Given the description of an element on the screen output the (x, y) to click on. 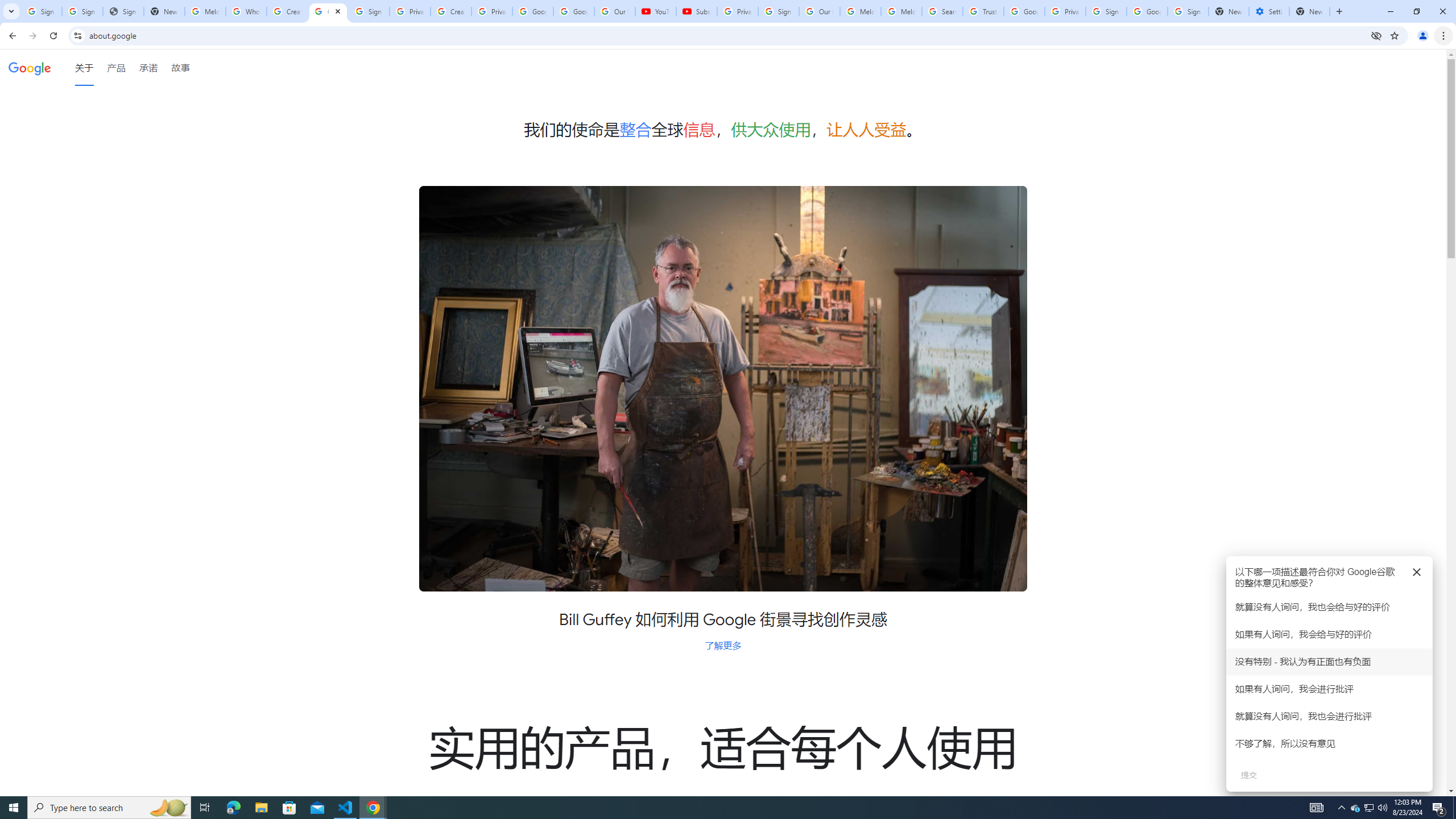
Sign in - Google Accounts (777, 11)
New Tab (1338, 11)
Google Ads - Sign in (1023, 11)
Bookmark this tab (1393, 35)
View site information (77, 35)
Sign in - Google Accounts (368, 11)
Address and search bar (726, 35)
Google Cybersecurity Innovations - Google Safety Center (1146, 11)
